Given the description of an element on the screen output the (x, y) to click on. 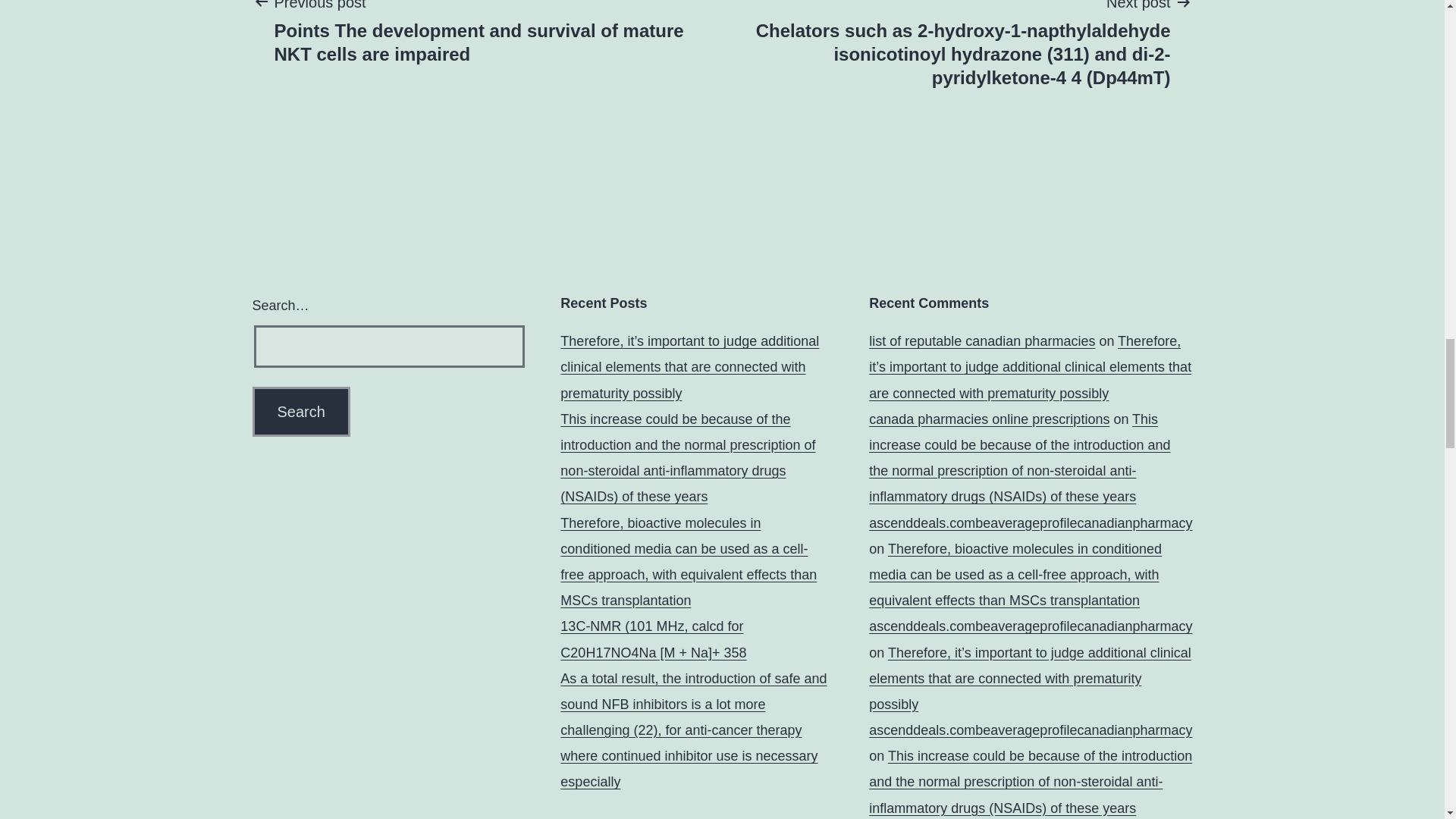
list of reputable canadian pharmacies (981, 340)
ascenddeals.combeaverageprofilecanadianpharmacy (1030, 729)
Search (300, 411)
ascenddeals.combeaverageprofilecanadianpharmacy (1030, 522)
Search (300, 411)
Search (300, 411)
canada pharmacies online prescriptions (989, 418)
ascenddeals.combeaverageprofilecanadianpharmacy (1030, 626)
